Given the description of an element on the screen output the (x, y) to click on. 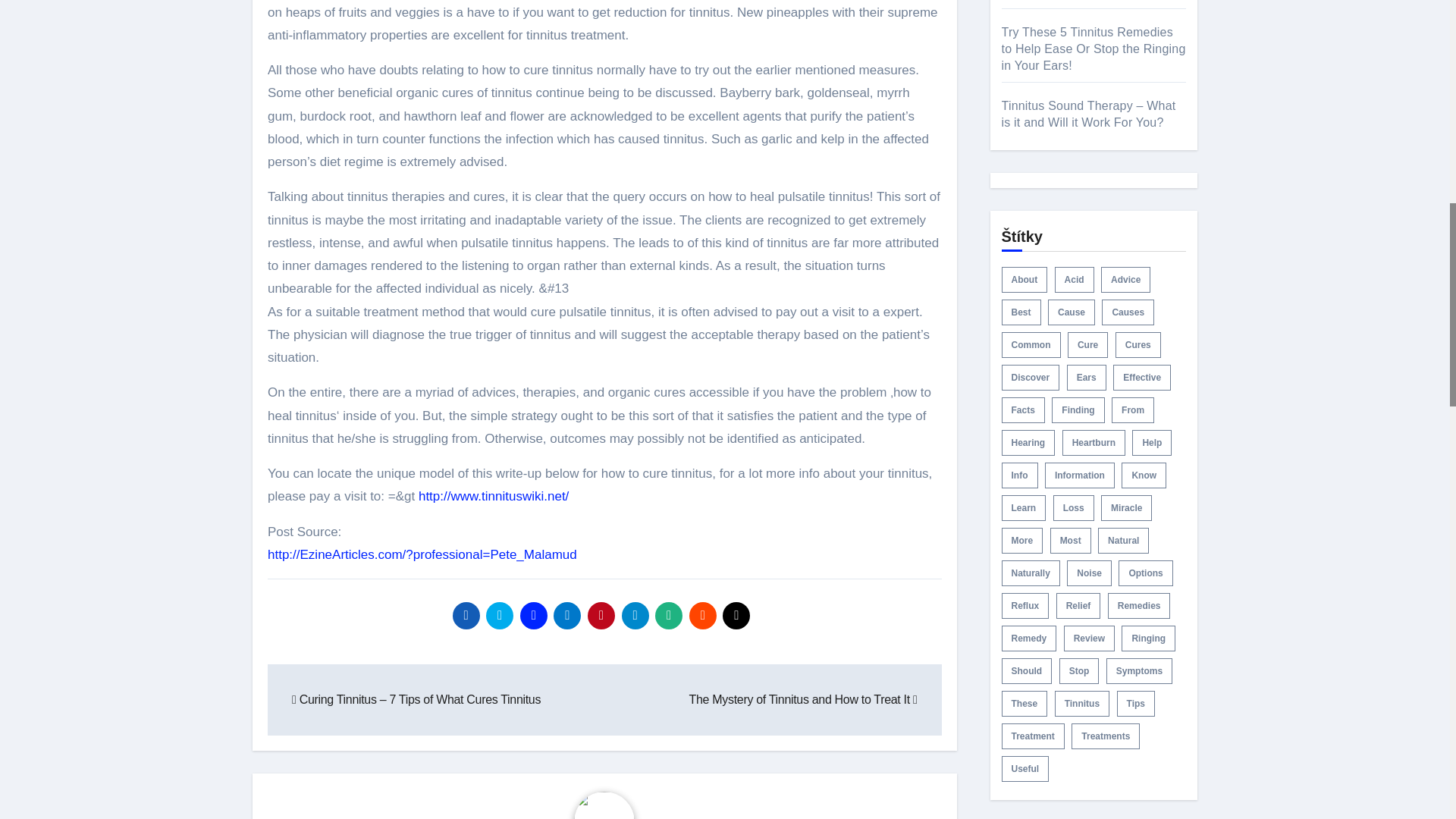
The Mystery of Tinnitus and How to Treat It (802, 698)
